Given the description of an element on the screen output the (x, y) to click on. 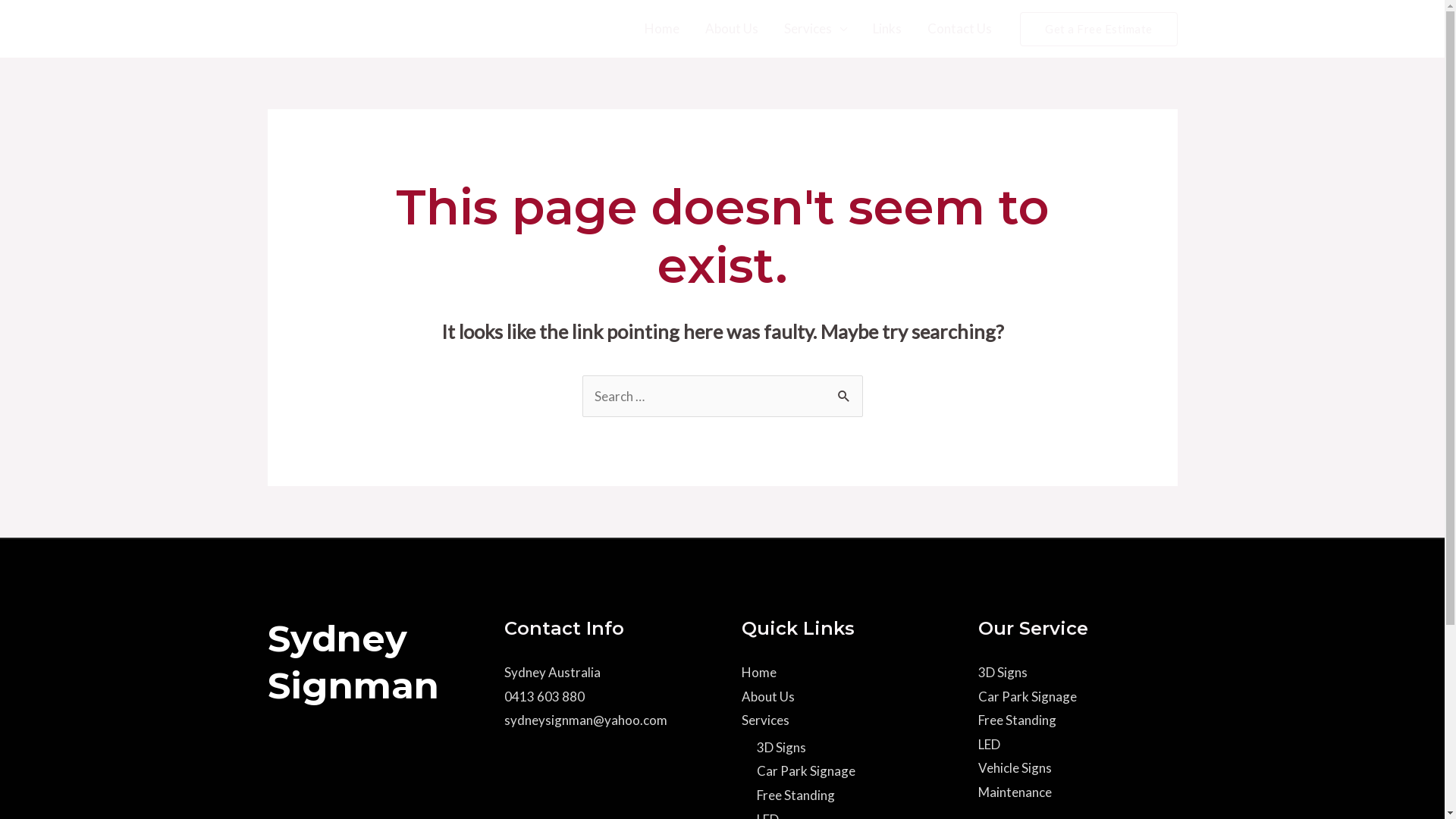
Search Element type: text (845, 391)
Services Element type: text (765, 720)
Home Element type: text (758, 672)
About Us Element type: text (767, 696)
Sydney Australia Element type: text (552, 672)
sydneysignman@yahoo.com Element type: text (585, 720)
LED Element type: text (989, 744)
Contact Us Element type: text (959, 28)
Links Element type: text (886, 28)
Car Park Signage Element type: text (1027, 696)
Free Standing Element type: text (1017, 720)
Home Element type: text (661, 28)
Car Park Signage Element type: text (805, 770)
About Us Element type: text (731, 28)
Free Standing Element type: text (795, 795)
3D Signs Element type: text (1002, 672)
0413 603 880 Element type: text (544, 696)
3D Signs Element type: text (781, 747)
Maintenance Element type: text (1014, 792)
Get a Free Estimate Element type: text (1098, 29)
Services Element type: text (815, 28)
Vehicle Signs Element type: text (1014, 767)
Sydney Signman Element type: text (384, 28)
